Given the description of an element on the screen output the (x, y) to click on. 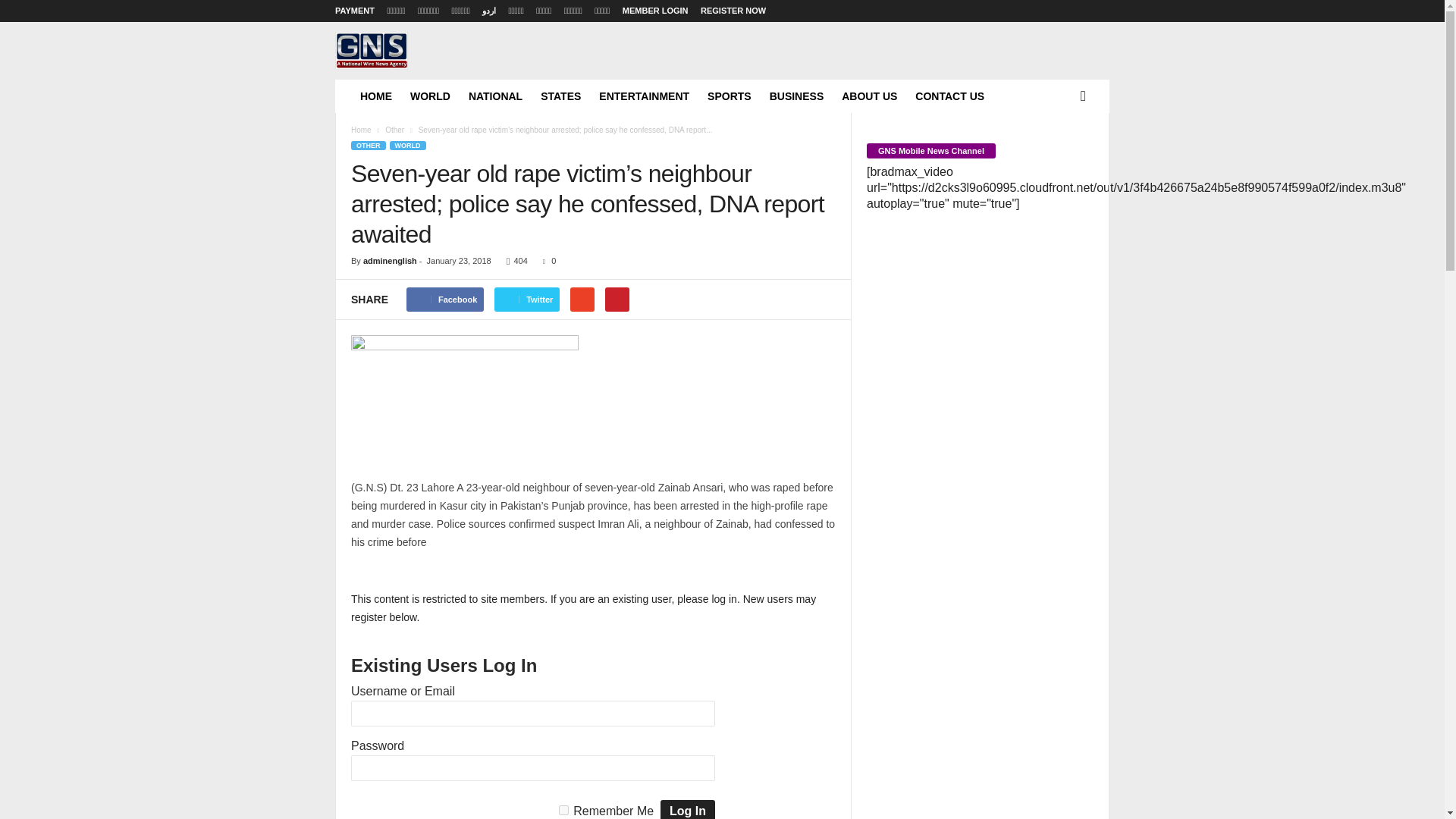
GNS News (437, 70)
MEMBER LOGIN (655, 10)
Log In (687, 809)
Seven-yr-old-rape-victim's (464, 398)
GNS News (370, 50)
forever (564, 809)
View all posts in Other (394, 130)
REGISTER NOW (732, 10)
PAYMENT (354, 10)
